Given the description of an element on the screen output the (x, y) to click on. 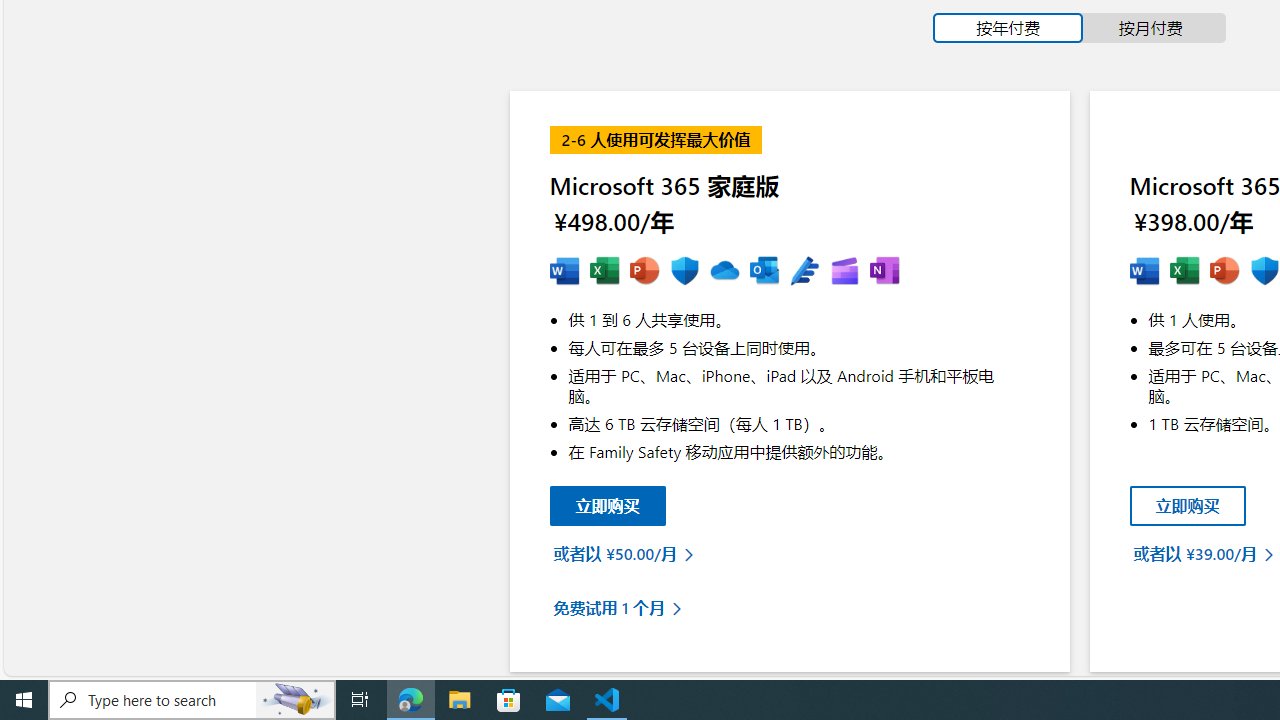
MS OneNote (884, 271)
MS Powerpoint (644, 271)
MS OneDrive (724, 271)
MS Outlook (763, 271)
MS Clipchamp (844, 271)
MS Editor (804, 271)
MS PowerPoint (1224, 271)
